Given the description of an element on the screen output the (x, y) to click on. 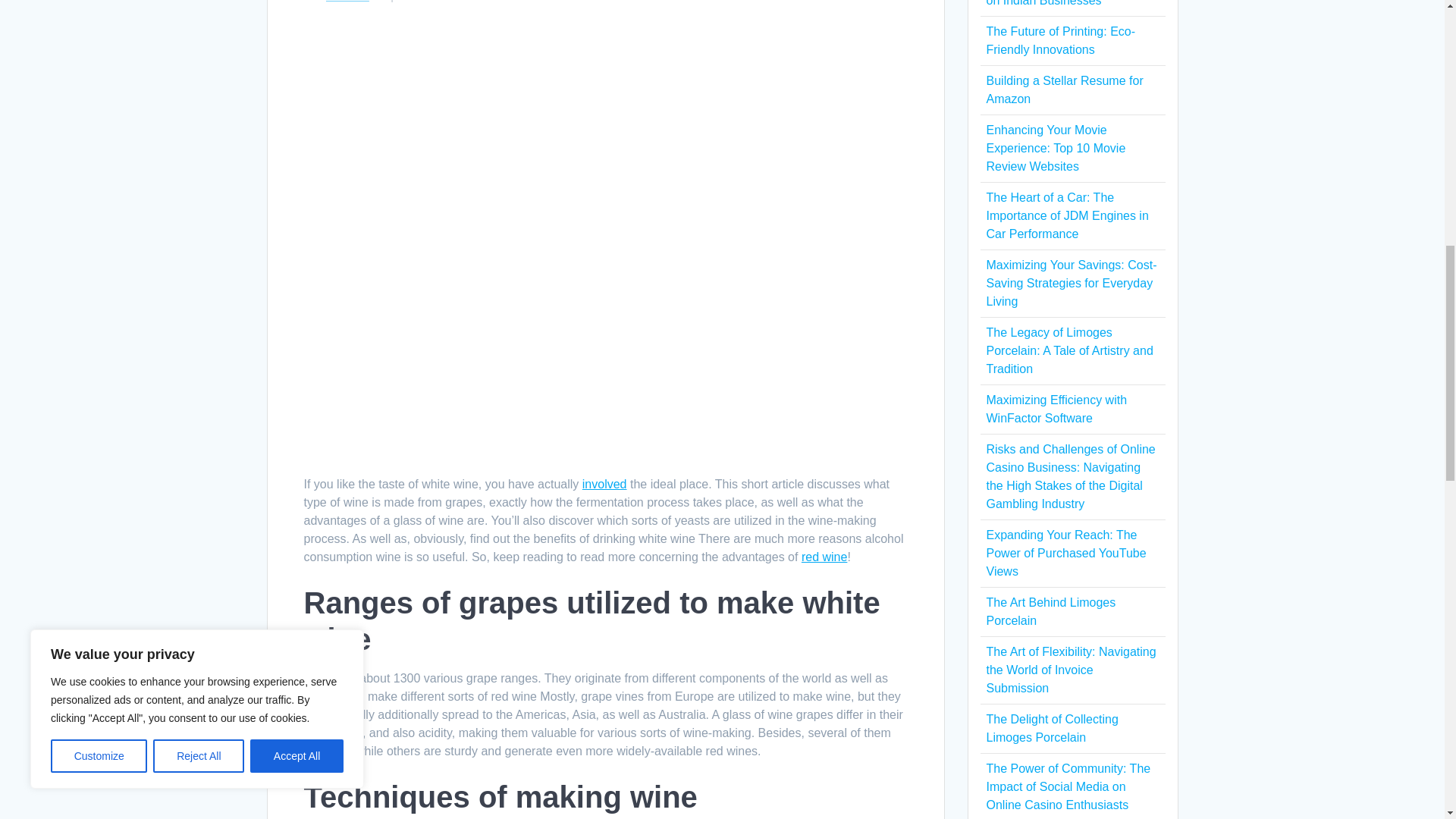
red wine (824, 556)
The Aftermath of Cyberattacks on Indian Businesses (1067, 3)
The Future of Printing: Eco-Friendly Innovations (1060, 40)
General (347, 1)
involved (604, 483)
Building a Stellar Resume for Amazon (1063, 89)
